Given the description of an element on the screen output the (x, y) to click on. 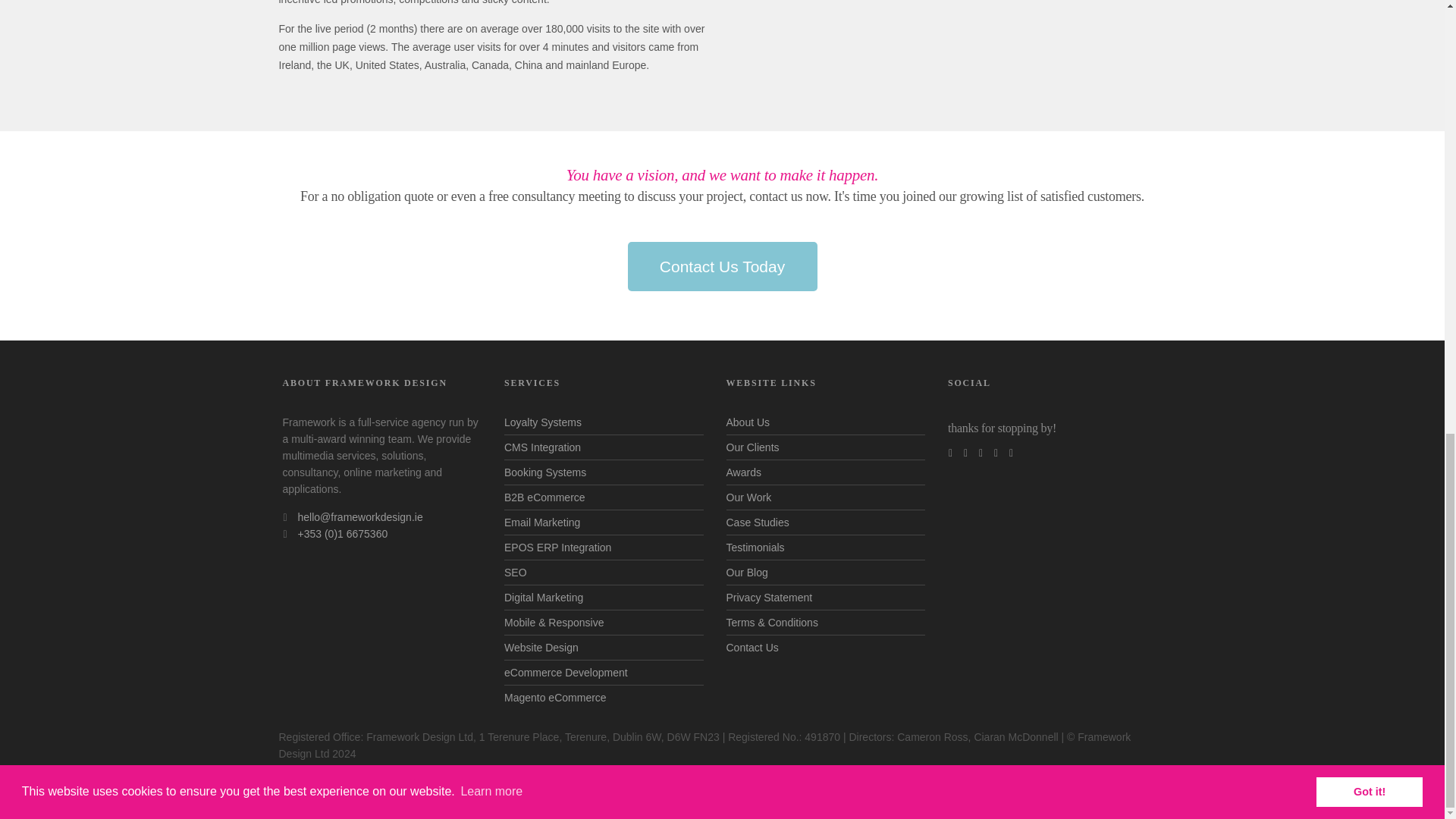
Booking Systems (544, 472)
Email Marketing (541, 522)
Contact Us Today (721, 266)
EPOS ERP Integration (557, 547)
SEO (515, 572)
CMS Integration (541, 447)
B2B eCommerce (544, 497)
Loyalty Systems (541, 422)
